Given the description of an element on the screen output the (x, y) to click on. 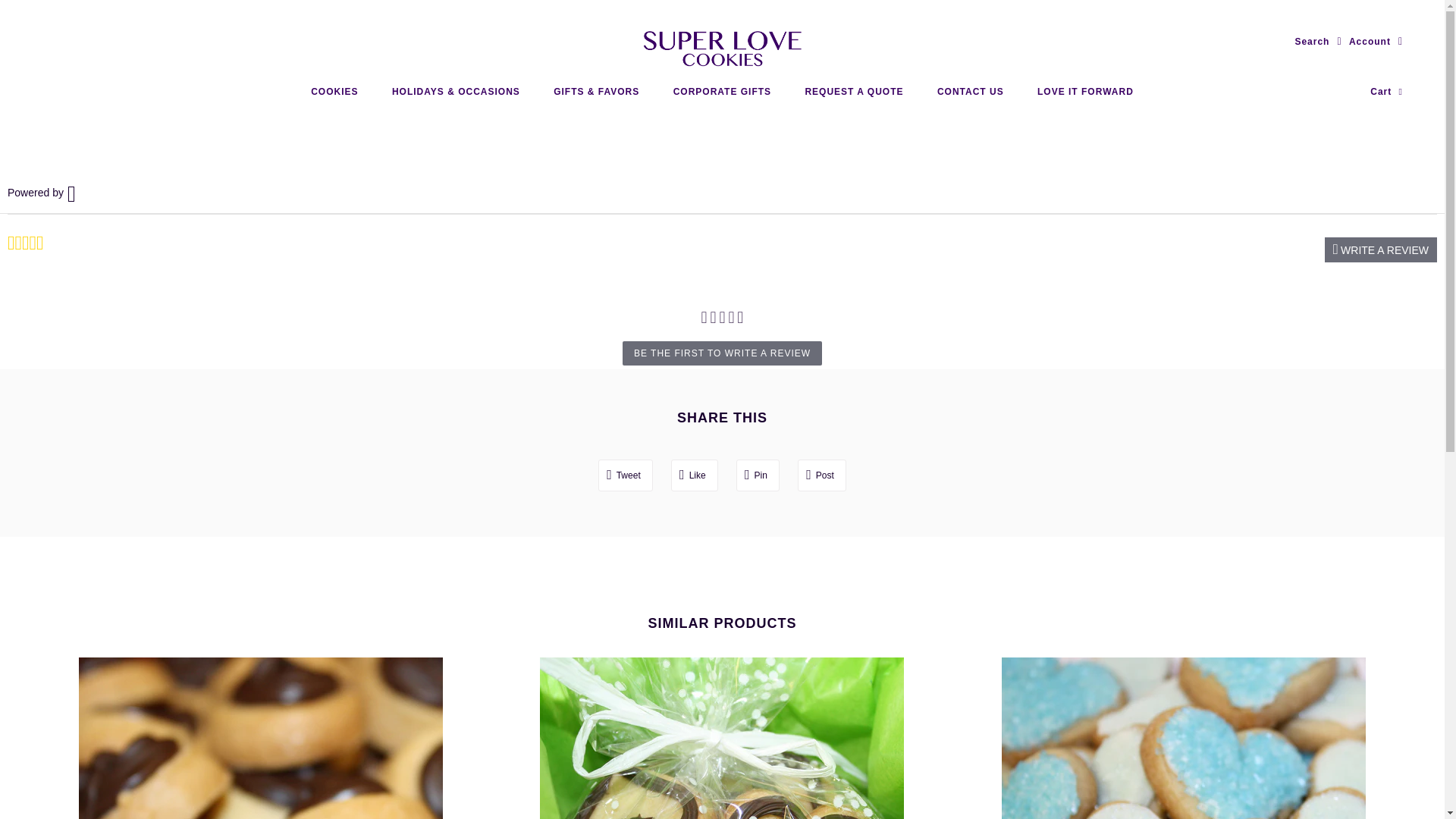
SuperLove Cookies and Gifts (722, 48)
CONTACT US (970, 91)
Account (1376, 42)
COOKIES (333, 91)
Search (1317, 42)
REQUEST A QUOTE (853, 91)
CORPORATE GIFTS (722, 91)
